Given the description of an element on the screen output the (x, y) to click on. 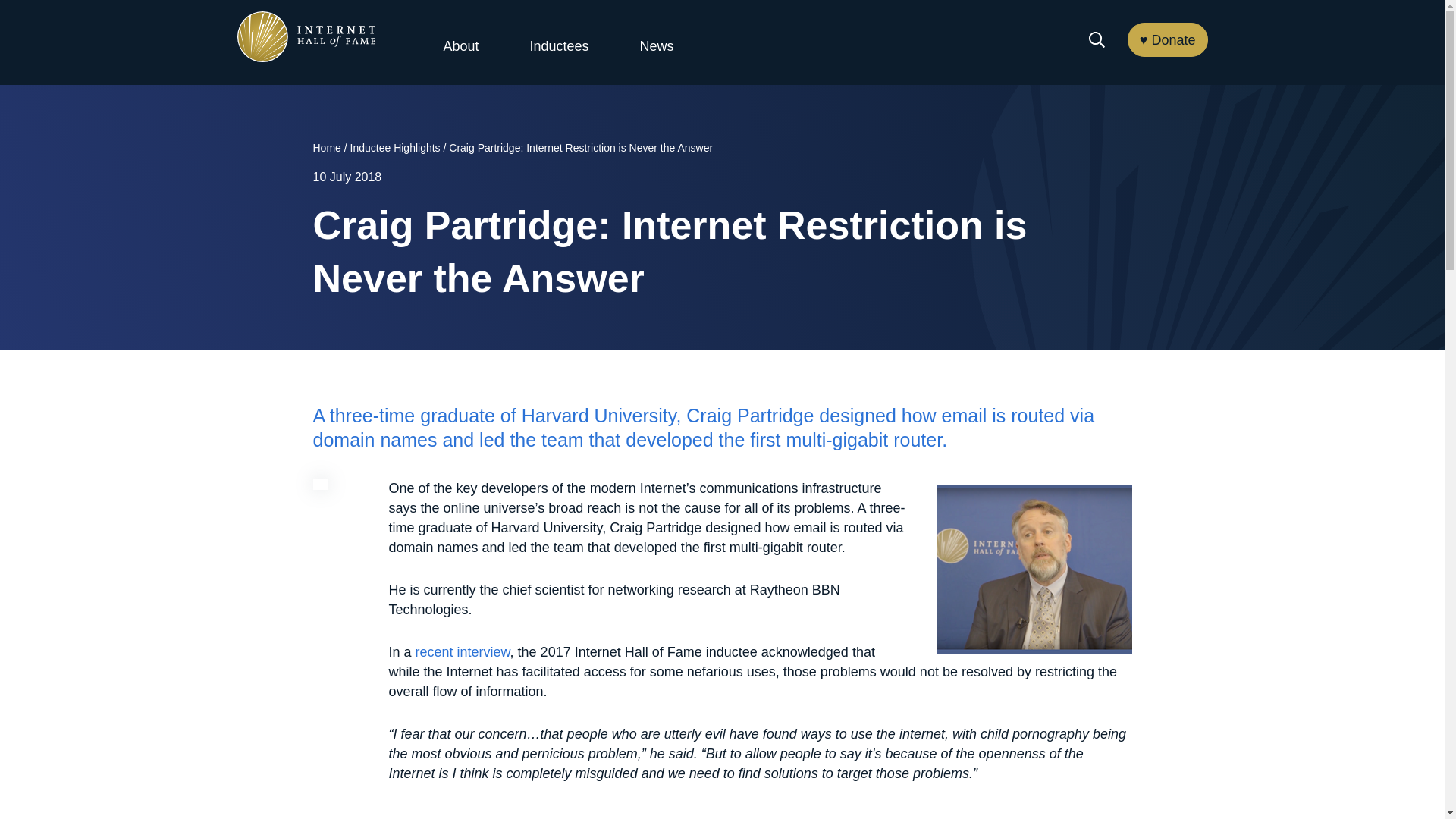
recent interview (462, 652)
About (460, 45)
Inductee Highlights (395, 147)
Search Dropdown (1096, 39)
Home (326, 147)
Inductees (558, 45)
News (657, 45)
